Given the description of an element on the screen output the (x, y) to click on. 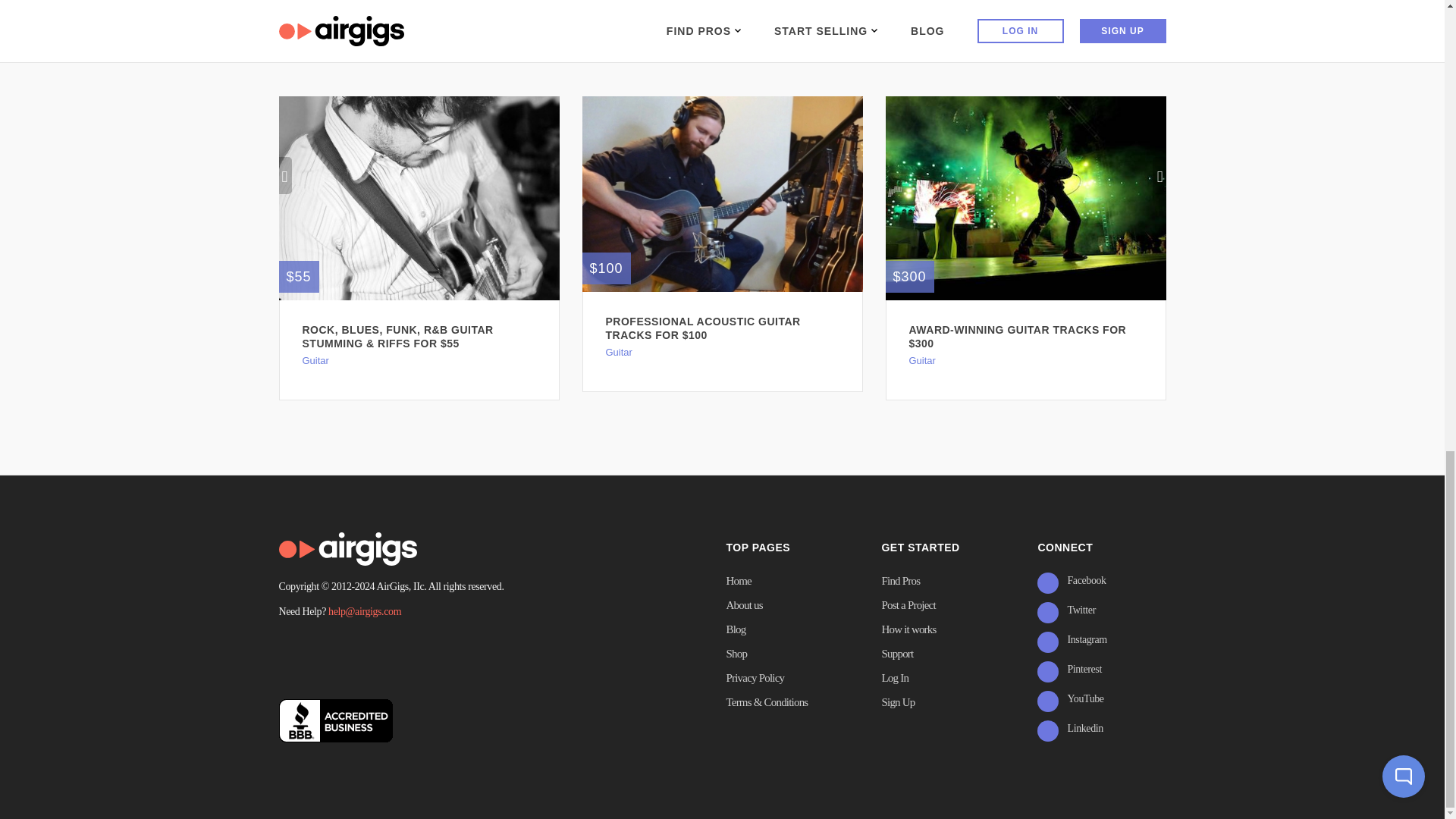
AirGigs is a BBB Accredited Musician in Melbourne, FL (336, 720)
